Given the description of an element on the screen output the (x, y) to click on. 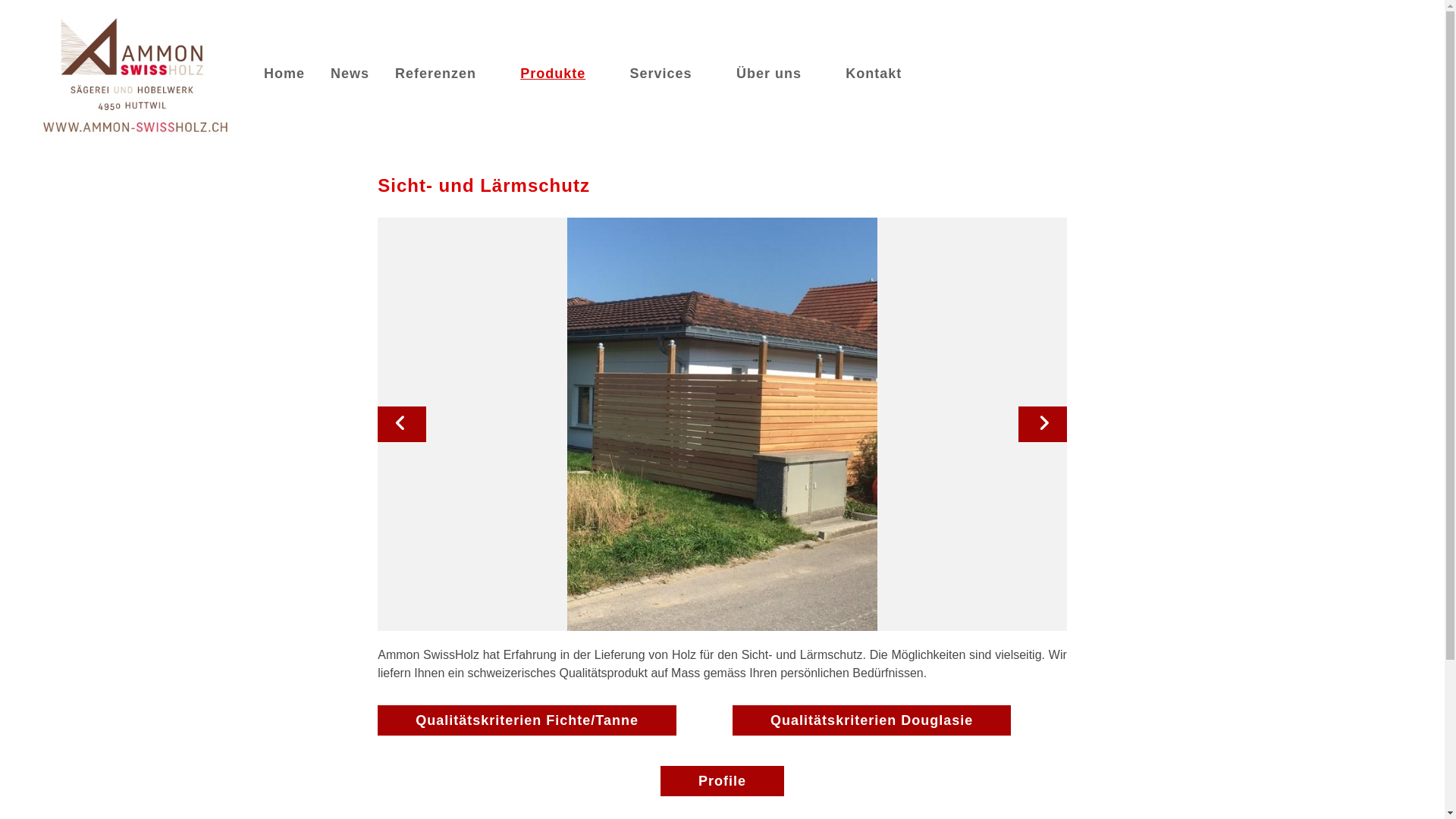
News Element type: text (349, 73)
Kontakt Element type: text (873, 73)
Profile Element type: text (722, 780)
Ammon Swissholz AG Element type: hover (136, 72)
Home Element type: text (284, 73)
